Given the description of an element on the screen output the (x, y) to click on. 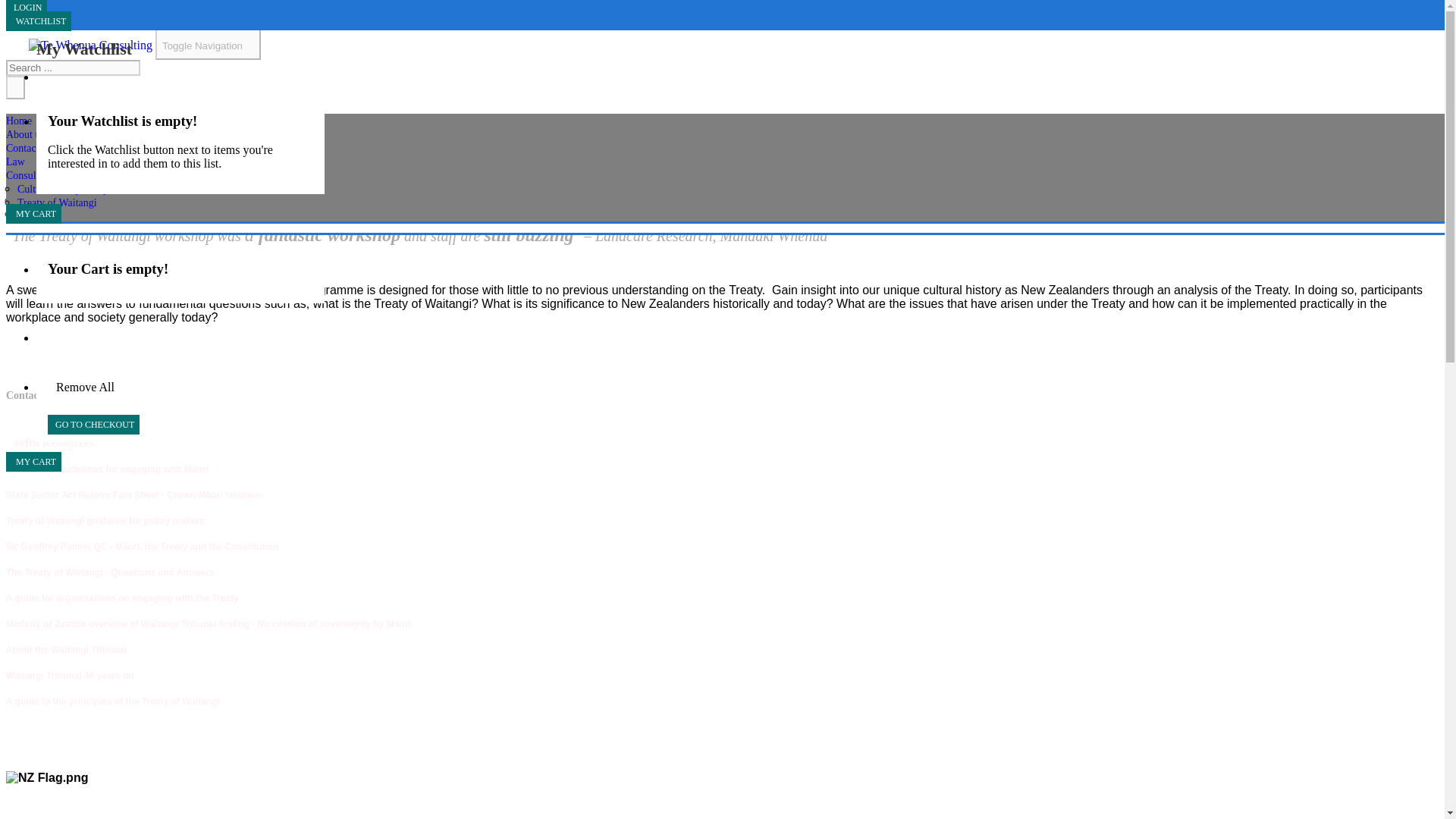
 GO TO CHECKOUT (93, 424)
Te Whenua Consulting (90, 45)
  MY CART (33, 461)
Contact (32, 158)
 LOGIN (25, 8)
Treaty of Waitangi (70, 213)
My Watchlist (84, 48)
Treaty of Waitangi guidance for policy makers (105, 519)
 Remove All (83, 386)
A guide for organisations on engaging with the Treaty (121, 597)
